Given the description of an element on the screen output the (x, y) to click on. 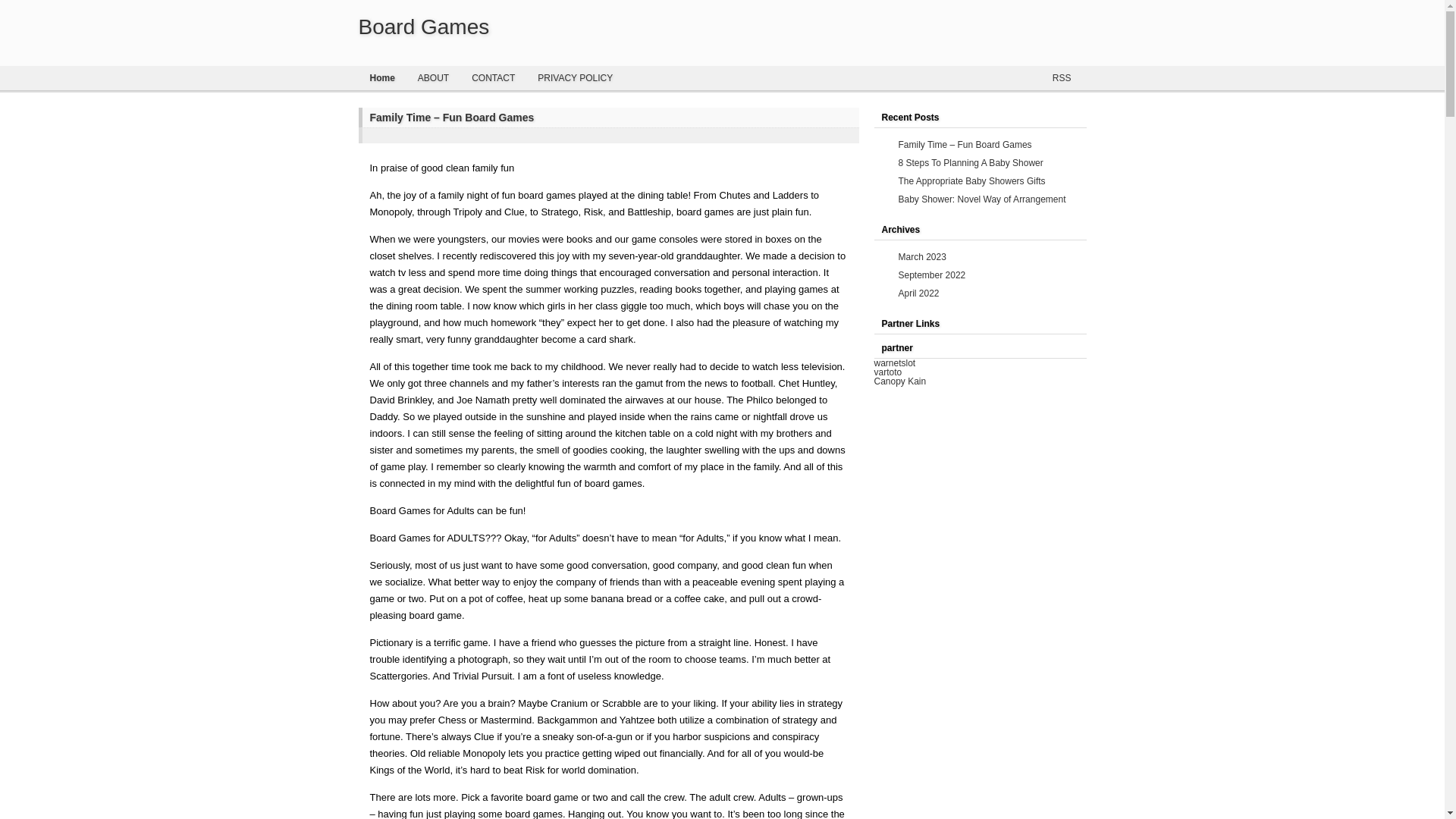
March 2023 (921, 256)
The Appropriate Baby Showers Gifts (971, 181)
The Appropriate Baby Showers Gifts (971, 181)
vartoto (887, 371)
Baby Shower: Novel Way of Arrangement (981, 199)
Board Games (423, 26)
September 2022 (931, 275)
RSS (1059, 78)
ABOUT (433, 78)
PRIVACY POLICY (574, 78)
ABOUT (433, 78)
April 2022 (918, 293)
warnetslot (894, 362)
Canopy Kain (899, 380)
March 2023 (921, 256)
